Given the description of an element on the screen output the (x, y) to click on. 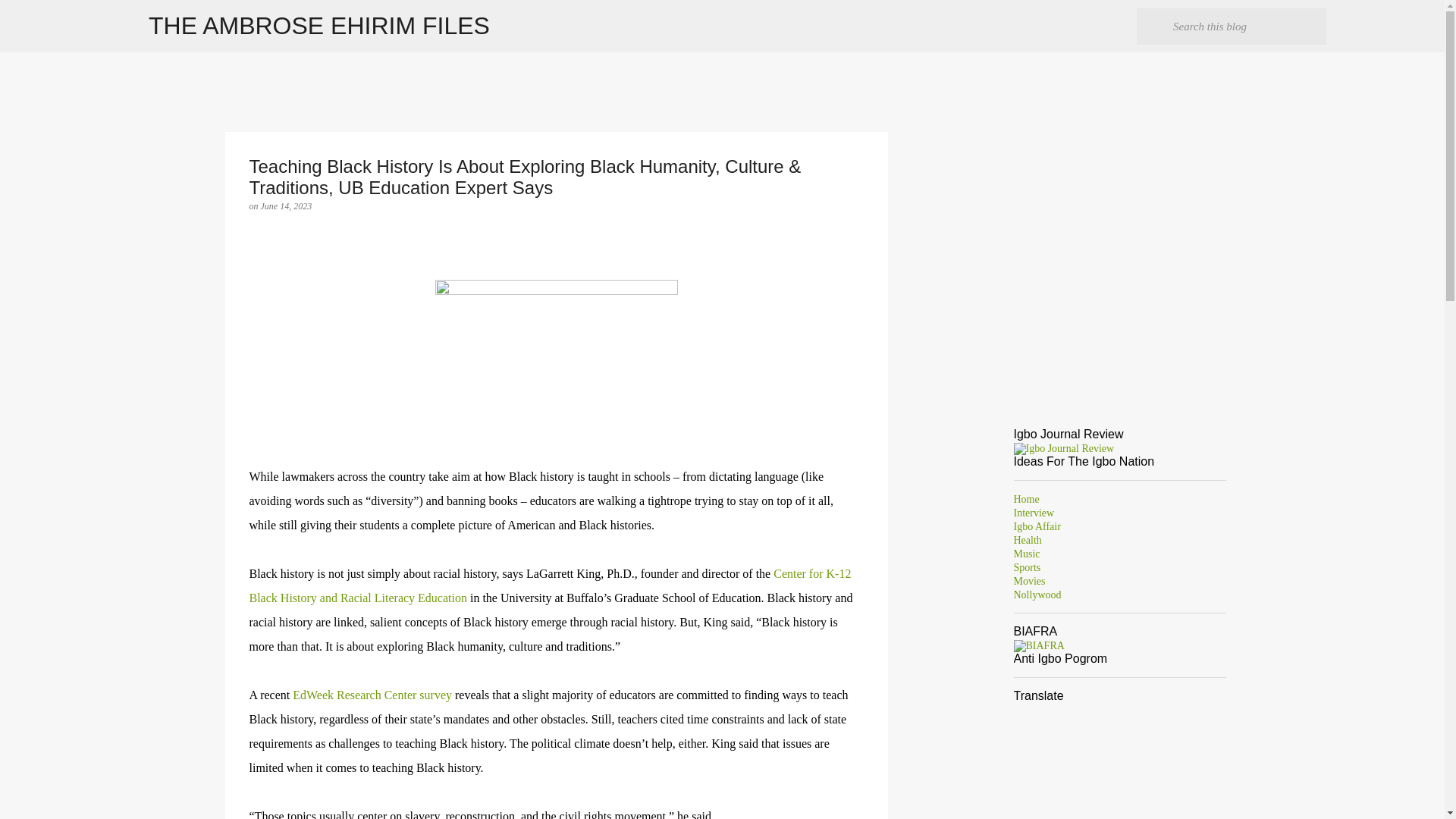
Igbo Affair (1036, 526)
permanent link (286, 205)
Music (1026, 553)
Sports (1027, 567)
Movies (1029, 581)
June 14, 2023 (286, 205)
Home (1026, 499)
Week Research Center survey (378, 694)
Interview (1033, 512)
Nollywood (1037, 594)
Ed (297, 694)
Health (1027, 540)
THE AMBROSE EHIRIM FILES (318, 25)
Center for K-12 Black History and Racial Literacy Education (549, 585)
